Given the description of an element on the screen output the (x, y) to click on. 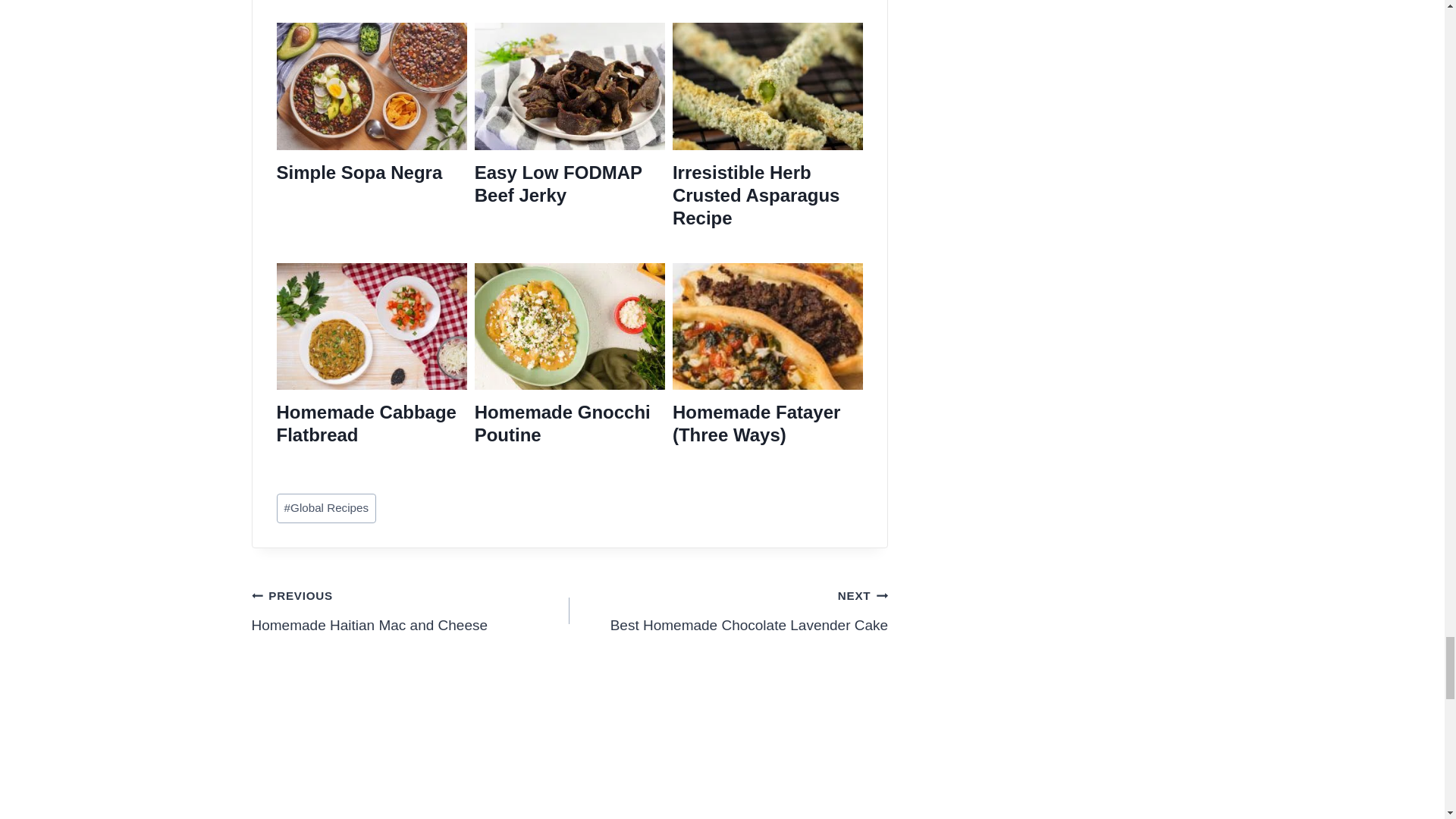
Global Recipes (325, 507)
